Given the description of an element on the screen output the (x, y) to click on. 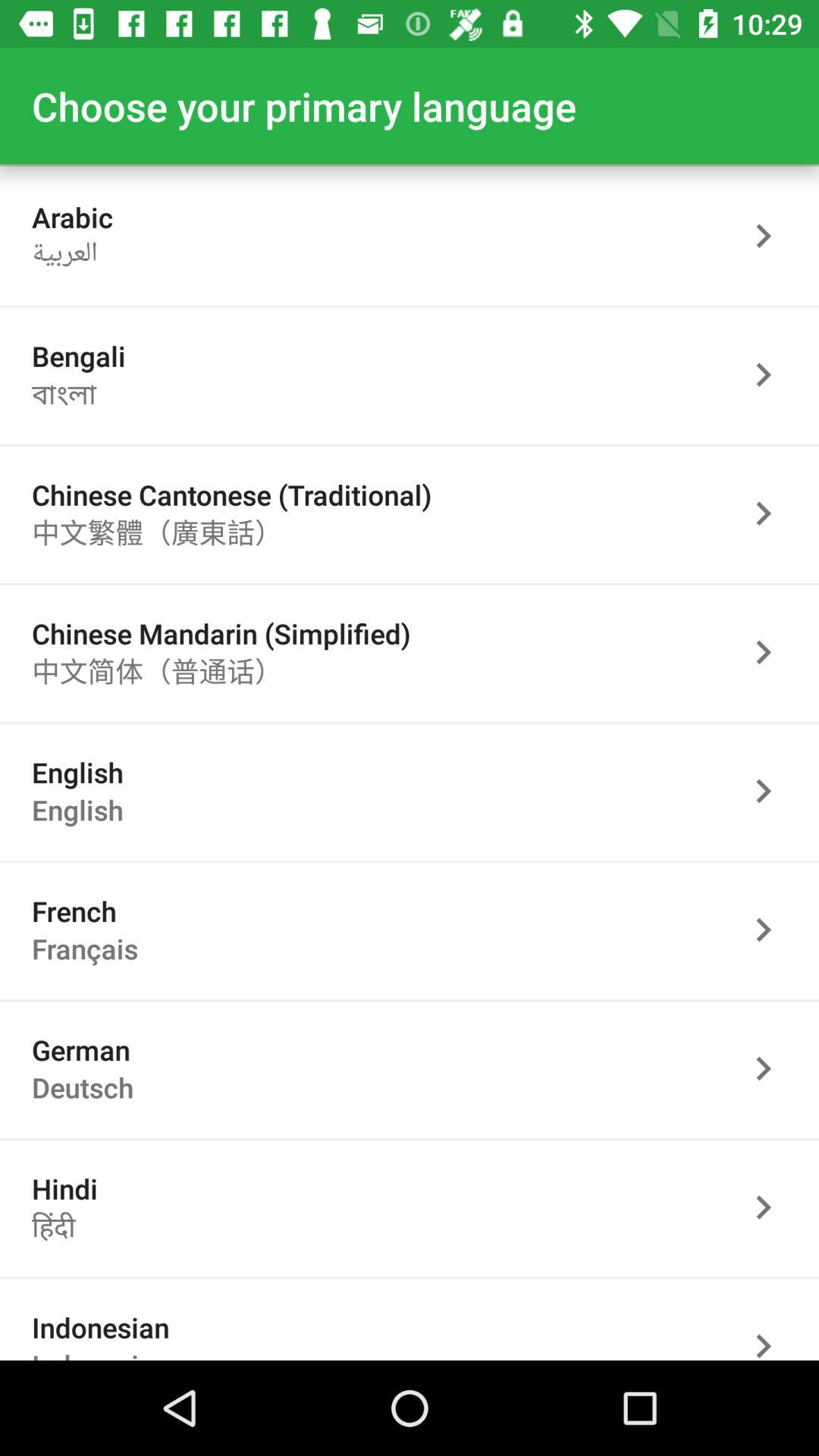
go to back (771, 374)
